Given the description of an element on the screen output the (x, y) to click on. 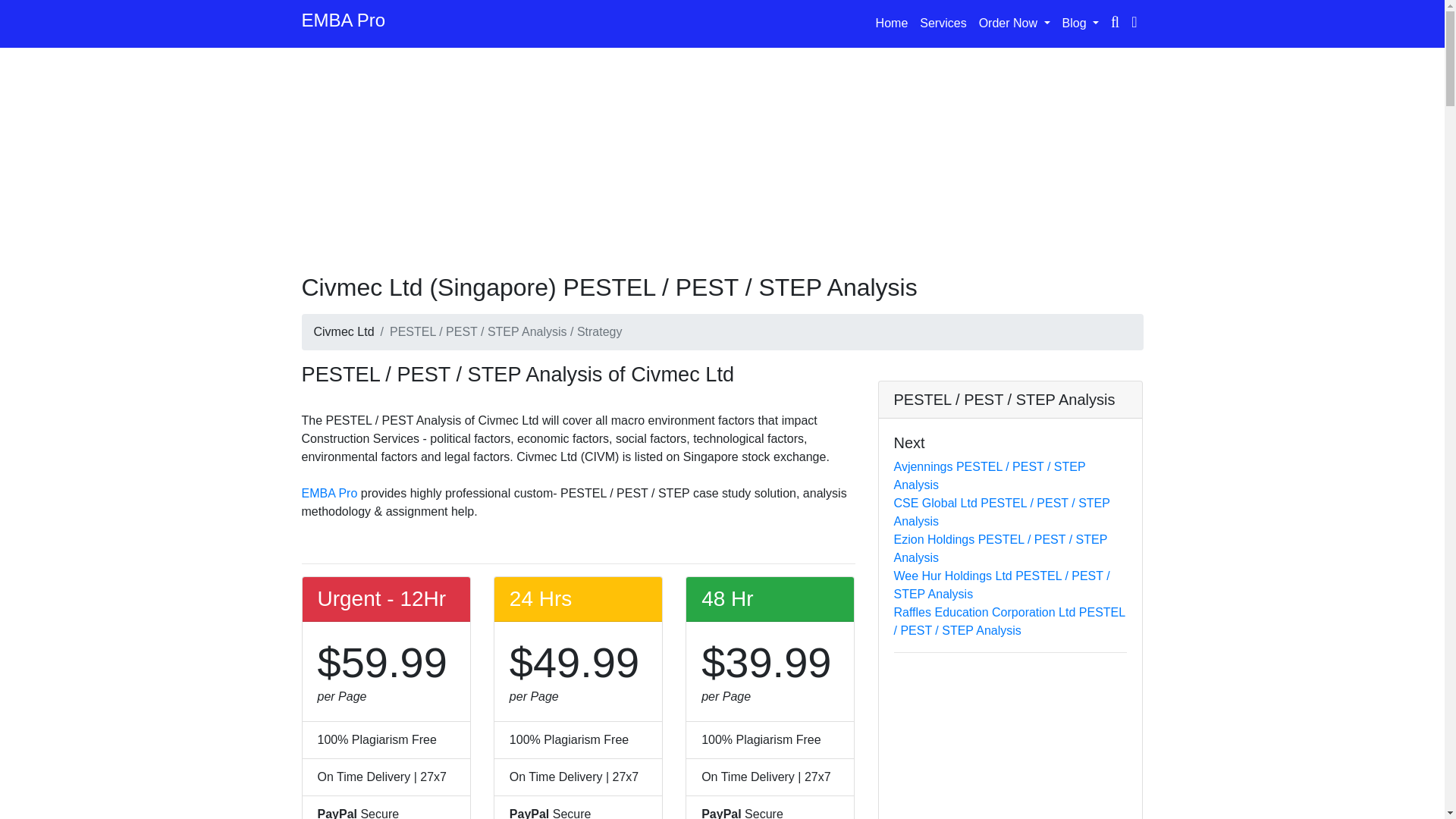
Services (943, 23)
Order Now (1014, 23)
Blog (1081, 23)
EMBA Pro (329, 492)
Home (891, 23)
EMBA Pro (343, 23)
